Given the description of an element on the screen output the (x, y) to click on. 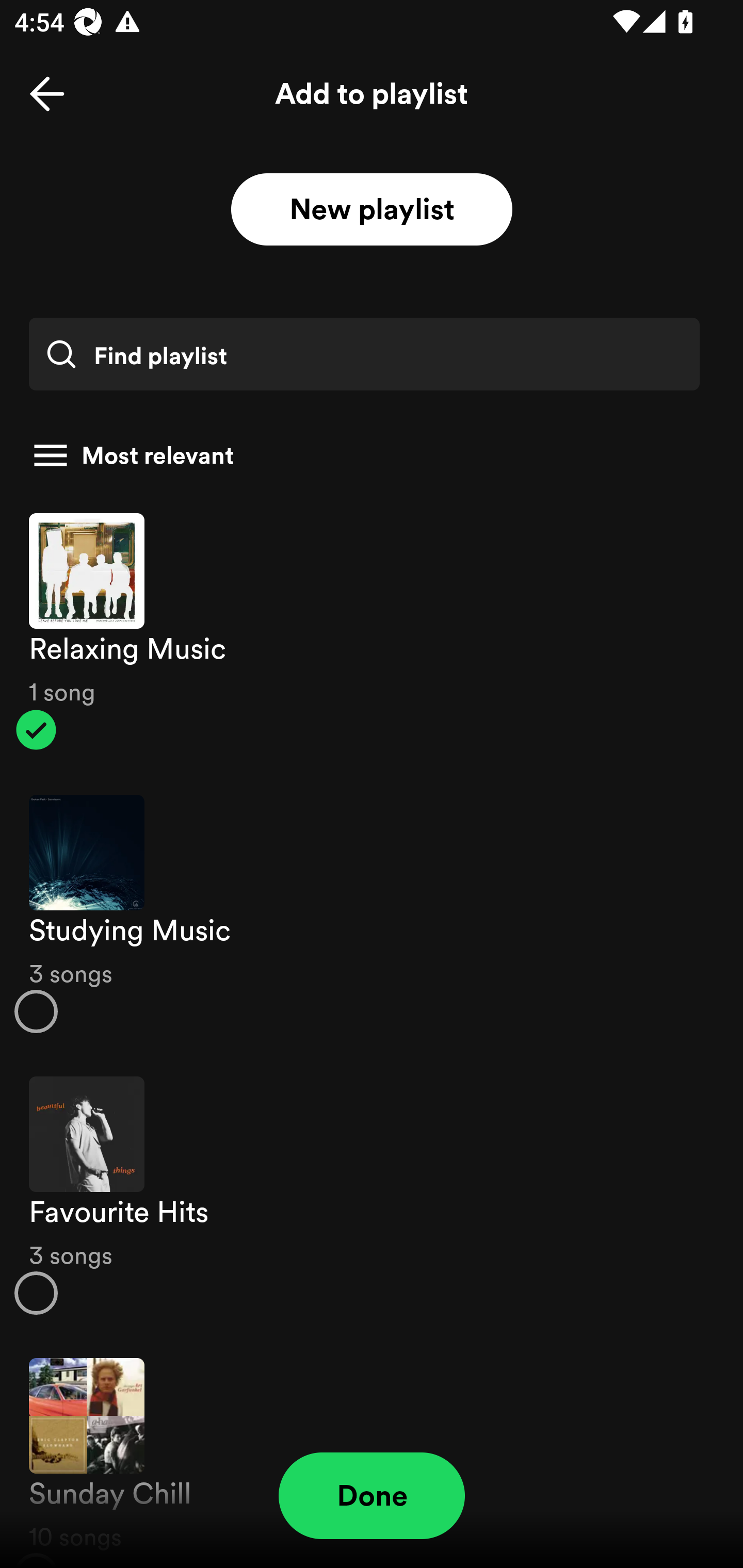
Back (46, 93)
New playlist (371, 210)
Find playlist (363, 354)
Most relevant (363, 455)
Relaxing Music 1 song (371, 631)
Studying Music 3 songs (371, 914)
Favourite Hits 3 songs (371, 1195)
Sunday Chill 10 songs (371, 1451)
Done (371, 1495)
